Given the description of an element on the screen output the (x, y) to click on. 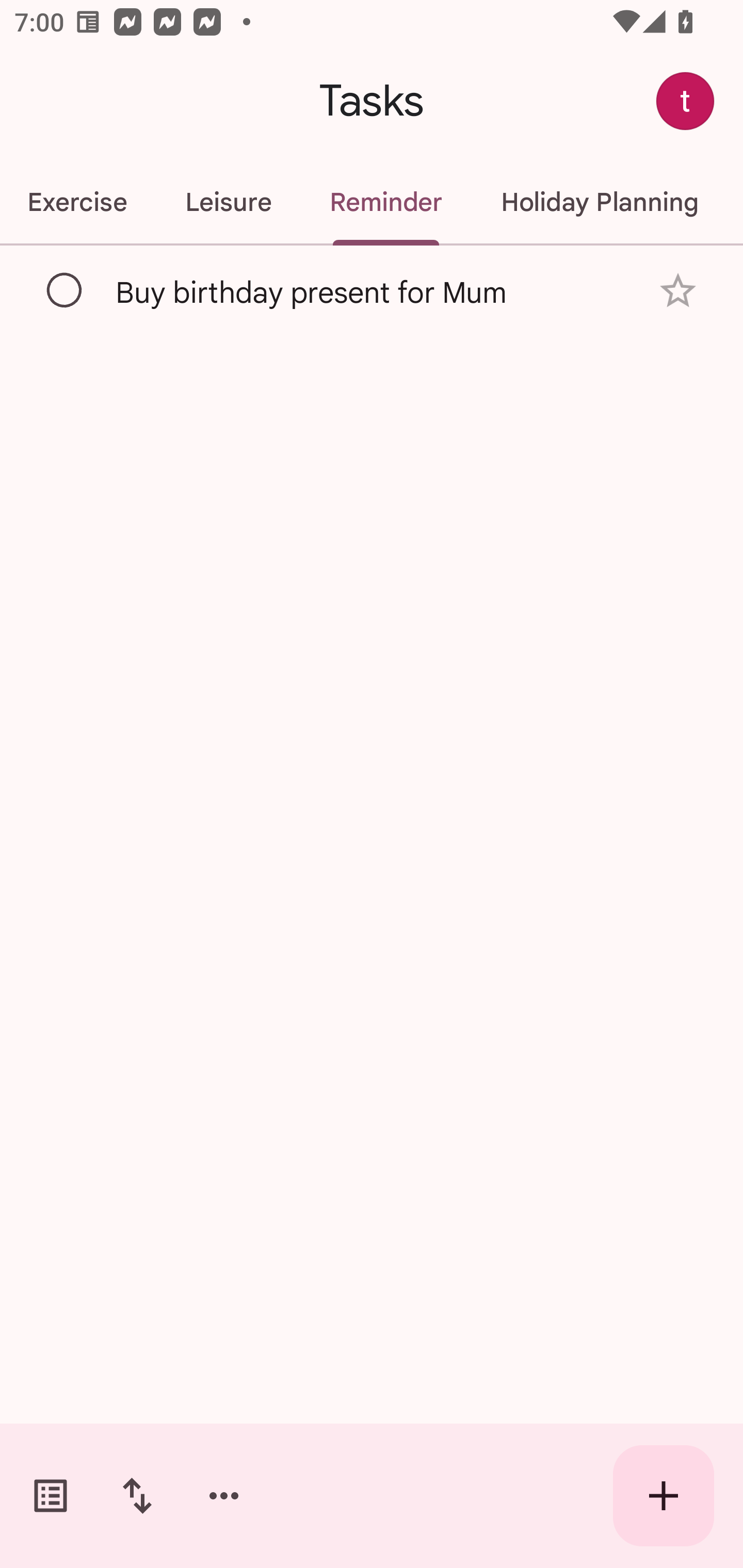
Exercise (78, 202)
Leisure (228, 202)
Holiday Planning (599, 202)
Add star (677, 290)
Mark as complete (64, 290)
Switch task lists (50, 1495)
Create new task (663, 1495)
Change sort order (136, 1495)
More options (223, 1495)
